Given the description of an element on the screen output the (x, y) to click on. 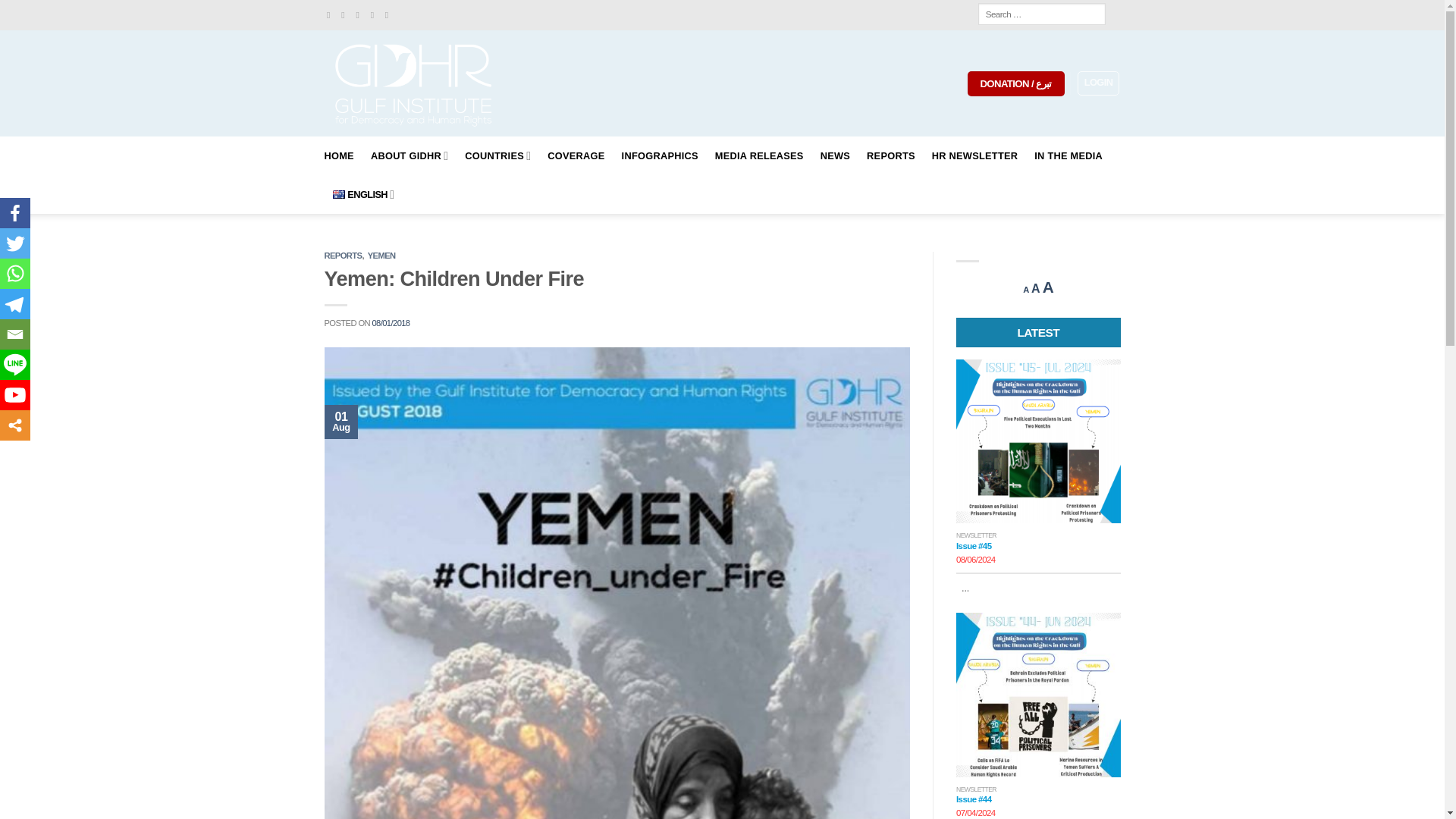
Submit (66, 11)
GIDHR - Gulf Institute for Democracy and Human Rights (414, 83)
ENGLISH (362, 194)
IN THE MEDIA (1067, 155)
LOGIN (1098, 83)
REPORTS (343, 255)
INFOGRAPHICS (659, 155)
REPORTS (890, 155)
MEDIA RELEASES (758, 155)
